Given the description of an element on the screen output the (x, y) to click on. 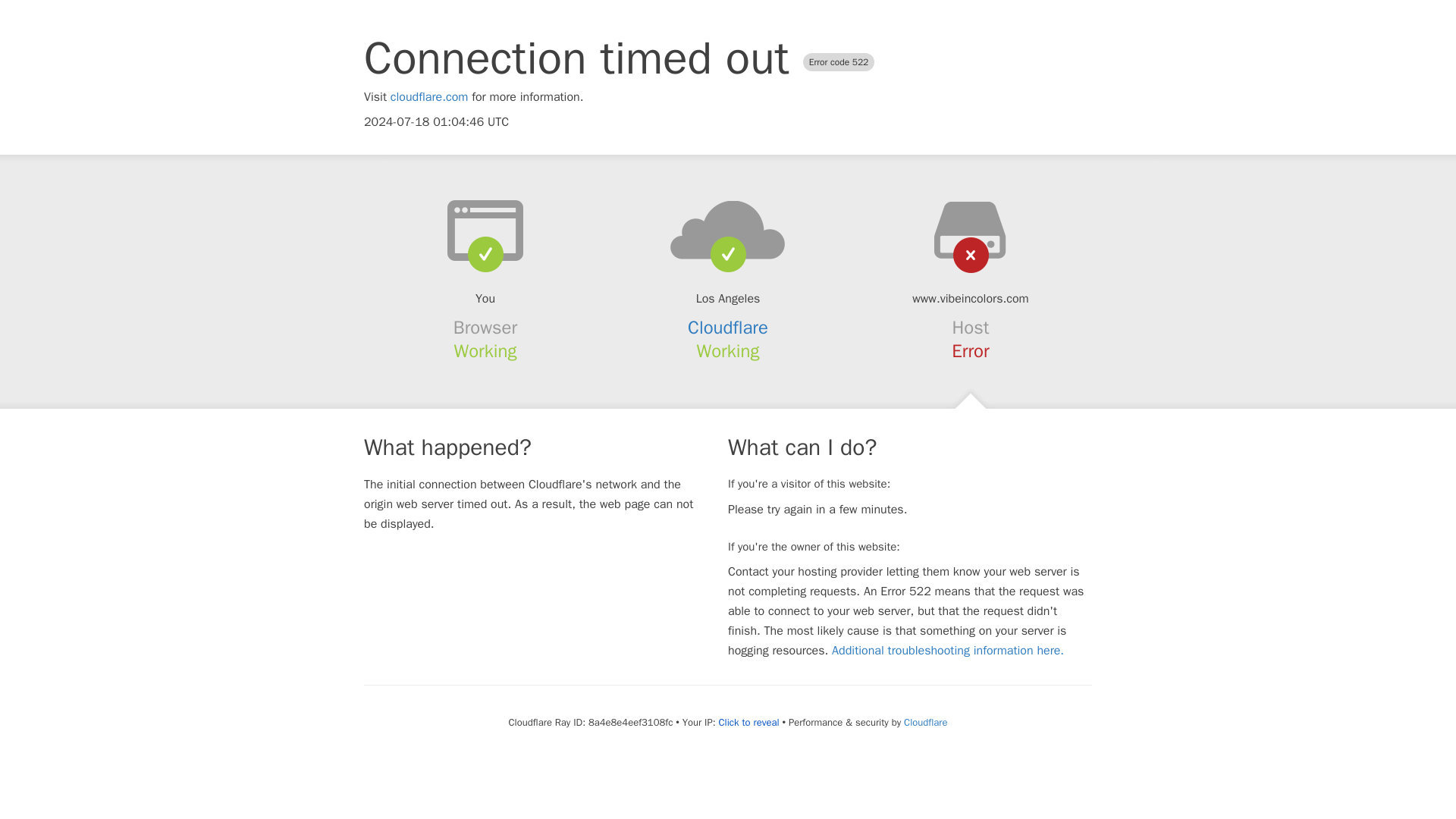
Additional troubleshooting information here. (947, 650)
Cloudflare (727, 327)
cloudflare.com (429, 96)
Click to reveal (748, 722)
Cloudflare (925, 721)
